Given the description of an element on the screen output the (x, y) to click on. 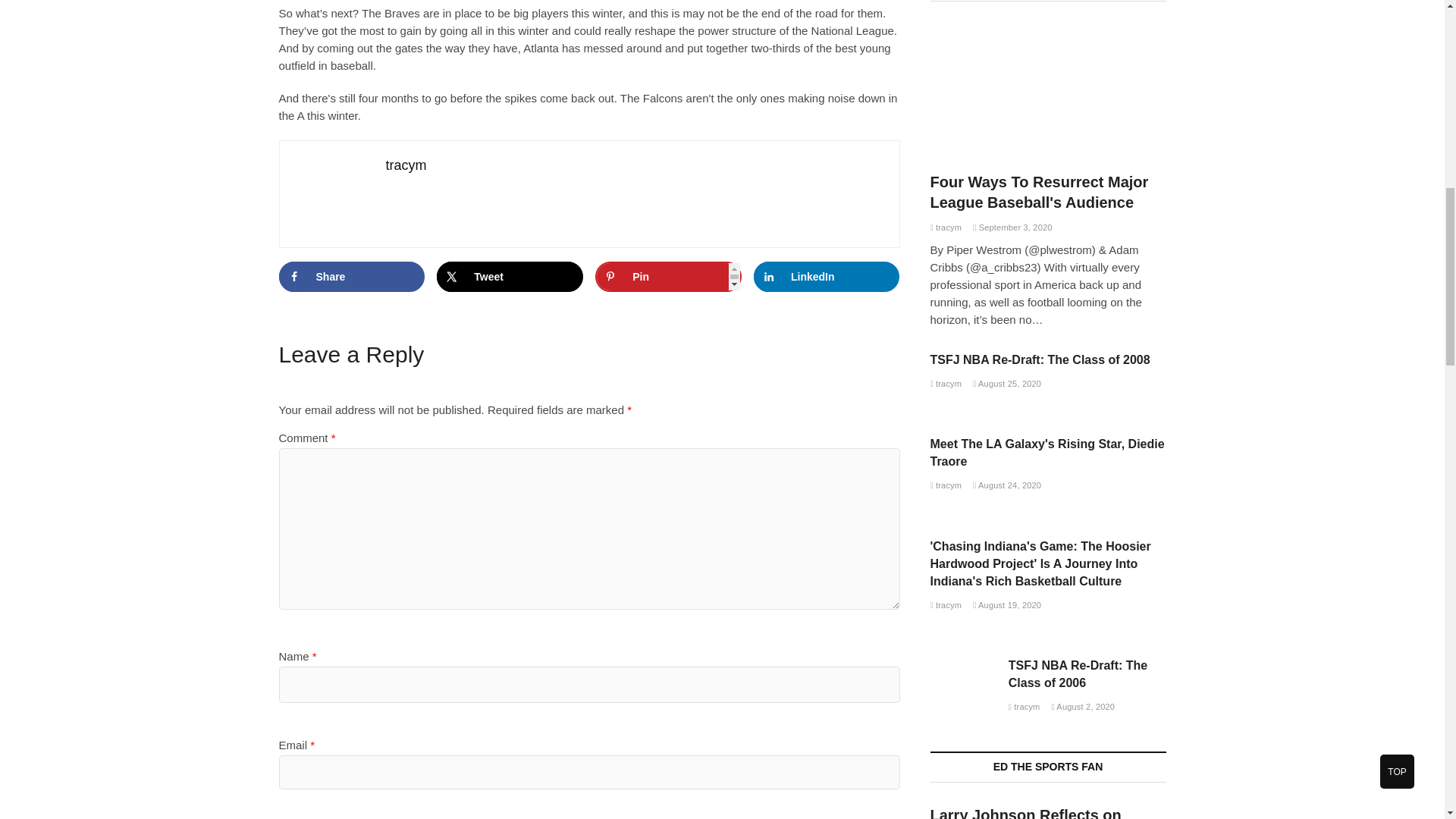
Save to Pinterest (668, 276)
Share on LinkedIn (826, 276)
Four Ways To Resurrect Major League Baseball's Audience (1039, 191)
Four Ways To Resurrect Major League Baseball's Audience (1048, 90)
TSFJ NBA Re-Draft: The Class of 2008 (1040, 359)
Four Ways To Resurrect Major League Baseball's Audience (945, 226)
Share on X (509, 276)
Share on Facebook (352, 276)
September 3, 2020 (1011, 226)
TSFJ NBA Re-Draft: The Class of 2008 (945, 383)
